Given the description of an element on the screen output the (x, y) to click on. 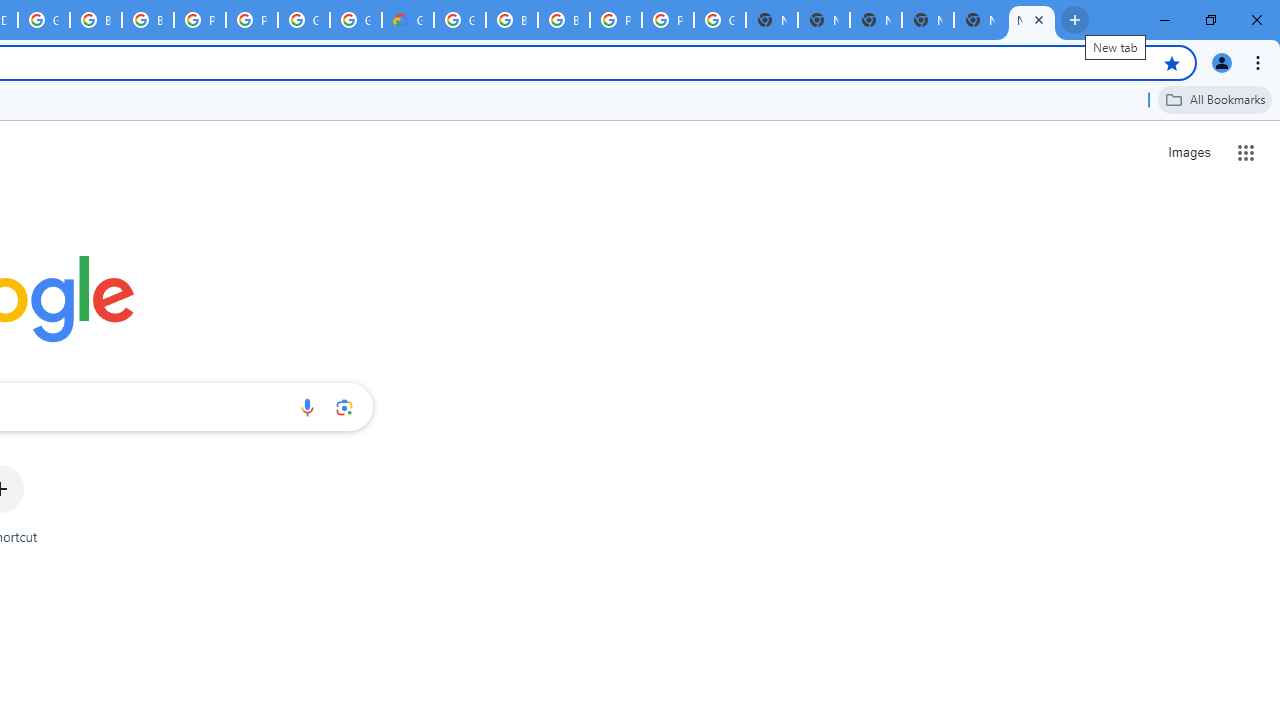
Search by image (344, 407)
Browse Chrome as a guest - Computer - Google Chrome Help (147, 20)
Google Cloud Platform (43, 20)
Google Cloud Platform (355, 20)
Google apps (1245, 152)
Search by voice (307, 407)
Browse Chrome as a guest - Computer - Google Chrome Help (95, 20)
Google Cloud Platform (719, 20)
Browse Chrome as a guest - Computer - Google Chrome Help (511, 20)
New Tab (927, 20)
